Given the description of an element on the screen output the (x, y) to click on. 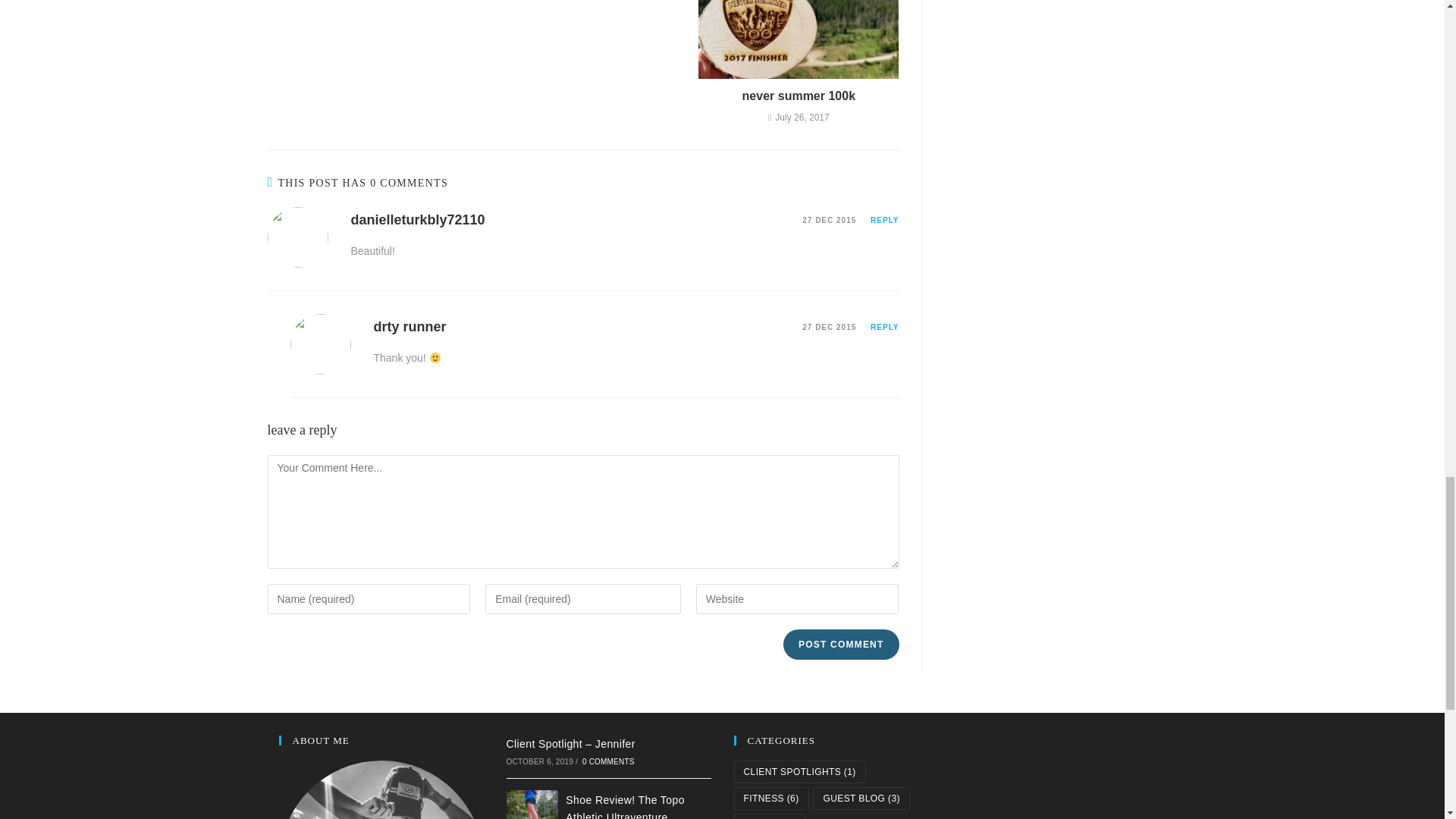
never summer 100k (798, 95)
REPLY (884, 220)
Shoe Review! The Topo Athletic Ultraventure (625, 806)
Shoe Review! The Topo Athletic Ultraventure (531, 804)
drty runner (408, 326)
Post Comment (840, 644)
danielleturkbly72110 (417, 219)
REPLY (884, 326)
Post Comment (840, 644)
Never Summer 100k (798, 95)
